Given the description of an element on the screen output the (x, y) to click on. 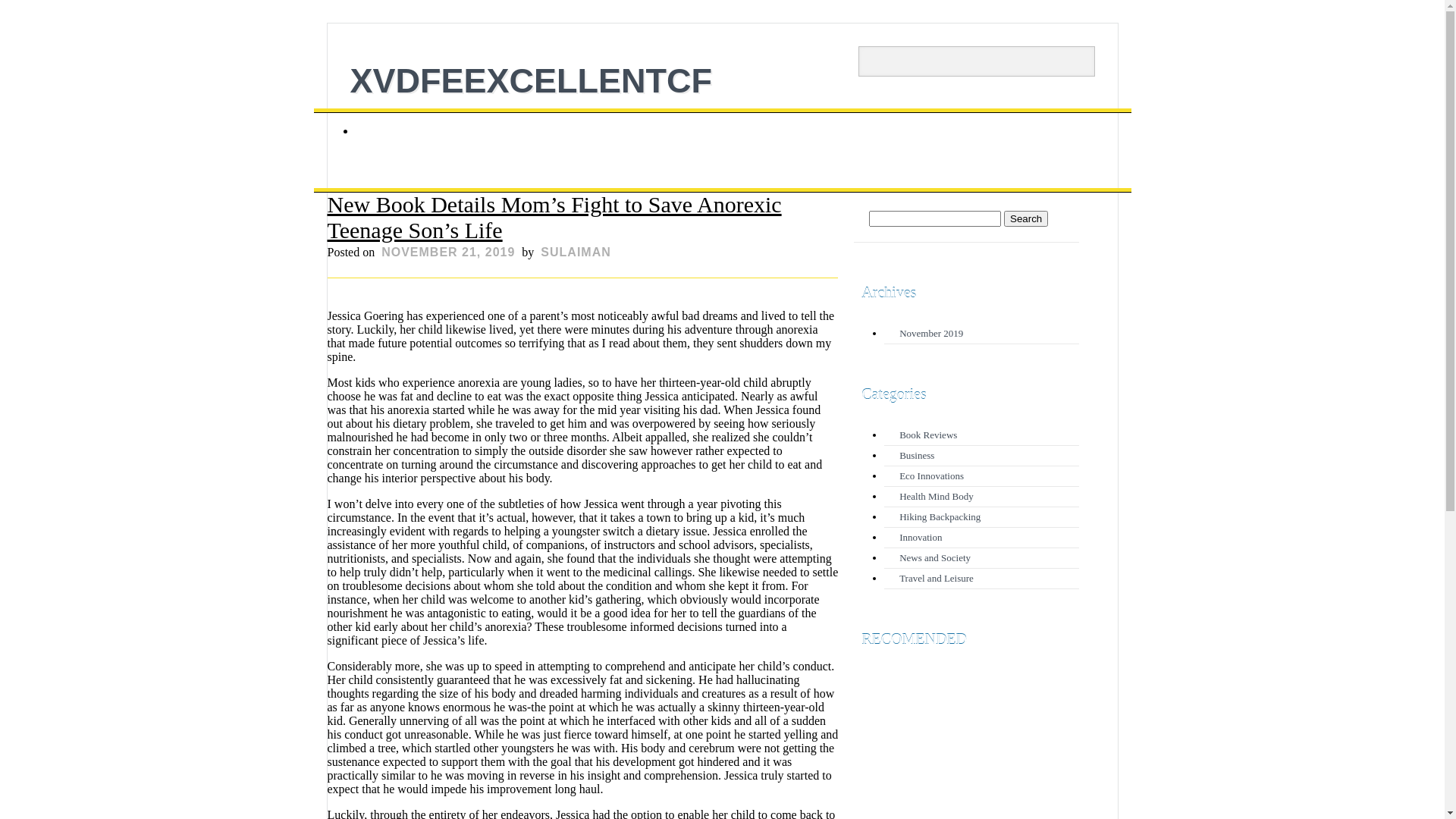
Search Element type: text (21, 7)
Innovation Element type: text (920, 536)
News and Society Element type: text (934, 557)
WORDPRESS Element type: text (1061, 772)
XVDFEEXCELLENTCF Element type: text (531, 80)
NOVEMBER 21, 2019 Element type: text (447, 251)
Business Element type: text (916, 455)
Search Element type: text (1026, 218)
Health Mind Body Element type: text (936, 496)
November 2019 Element type: text (931, 332)
Skip to content Element type: text (350, 114)
Eco Innovations Element type: text (931, 475)
Book Reviews Element type: text (928, 434)
HOME Element type: text (383, 131)
Hiking Backpacking Element type: text (939, 516)
Travel and Leisure Element type: text (936, 577)
SULAIMAN Element type: text (575, 251)
